Given the description of an element on the screen output the (x, y) to click on. 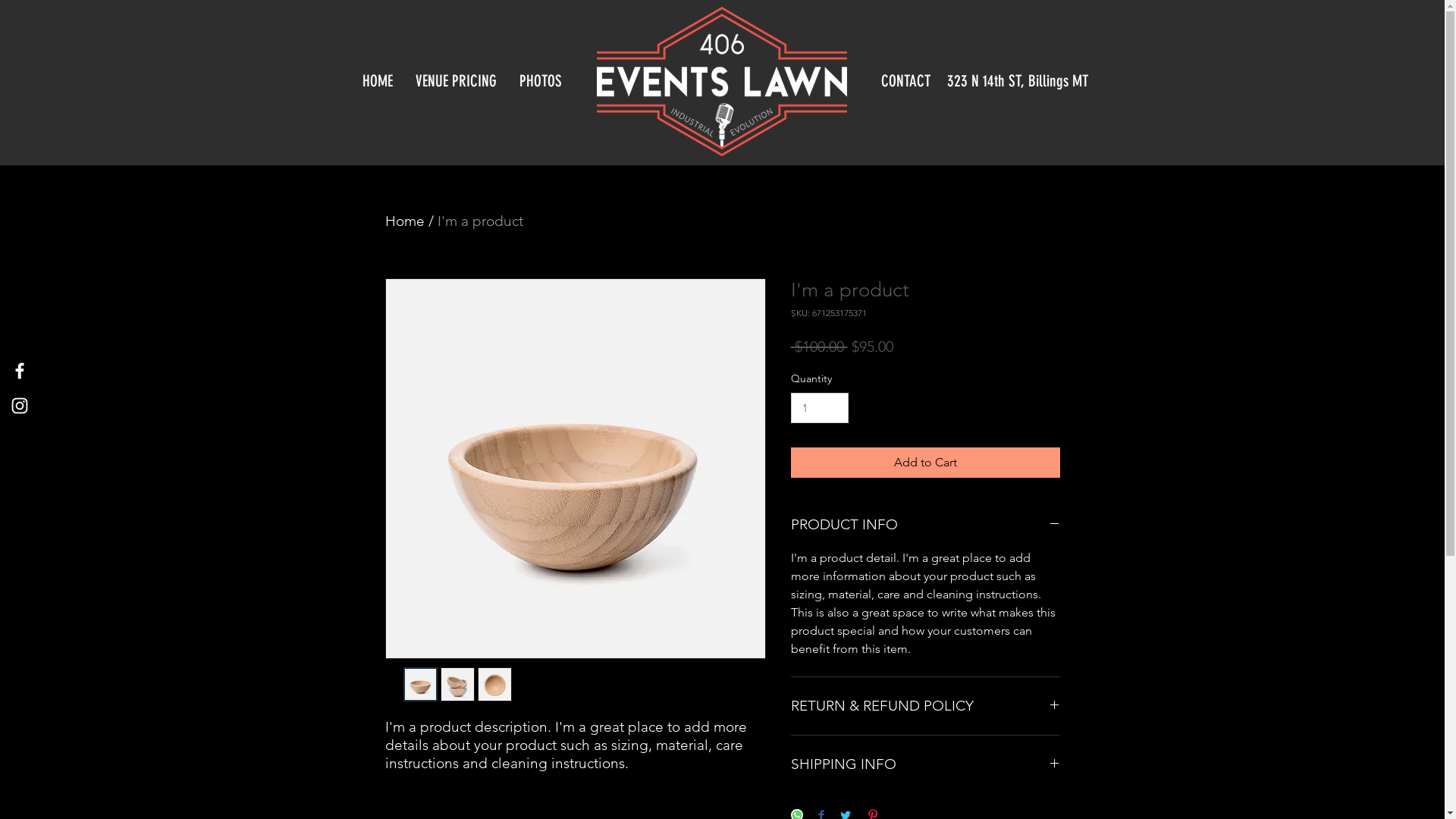
Home Element type: text (404, 220)
PHOTOS Element type: text (540, 81)
PRODUCT INFO Element type: text (924, 525)
323 N 14th ST, Billings MT Element type: text (1013, 80)
VENUE PRICING Element type: text (455, 81)
Add to Cart Element type: text (924, 462)
RETURN & REFUND POLICY Element type: text (924, 706)
CONTACT Element type: text (903, 80)
SHIPPING INFO Element type: text (924, 764)
HOME Element type: text (376, 81)
